Given the description of an element on the screen output the (x, y) to click on. 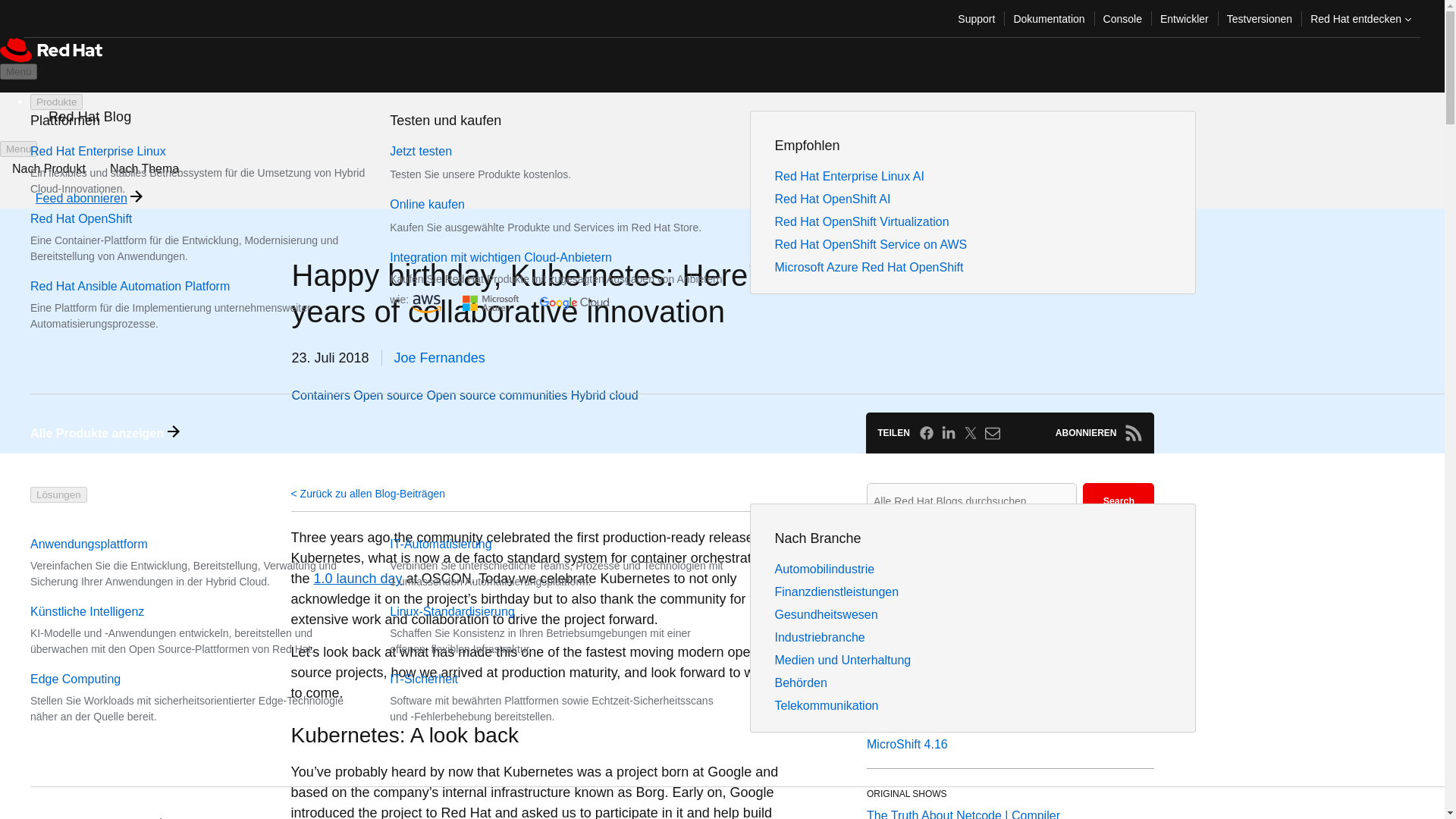
Feed abonnieren (81, 197)
Jetzt testenTesten Sie unsere Produkte kostenlos. (511, 162)
Abonnieren (1132, 433)
Entwickler (1184, 18)
Red Hat entdecken (1361, 18)
Support (976, 18)
Console (1122, 18)
See more by Joe Fernandes (439, 357)
Dokumentation (1048, 18)
Testversionen (1259, 18)
